Given the description of an element on the screen output the (x, y) to click on. 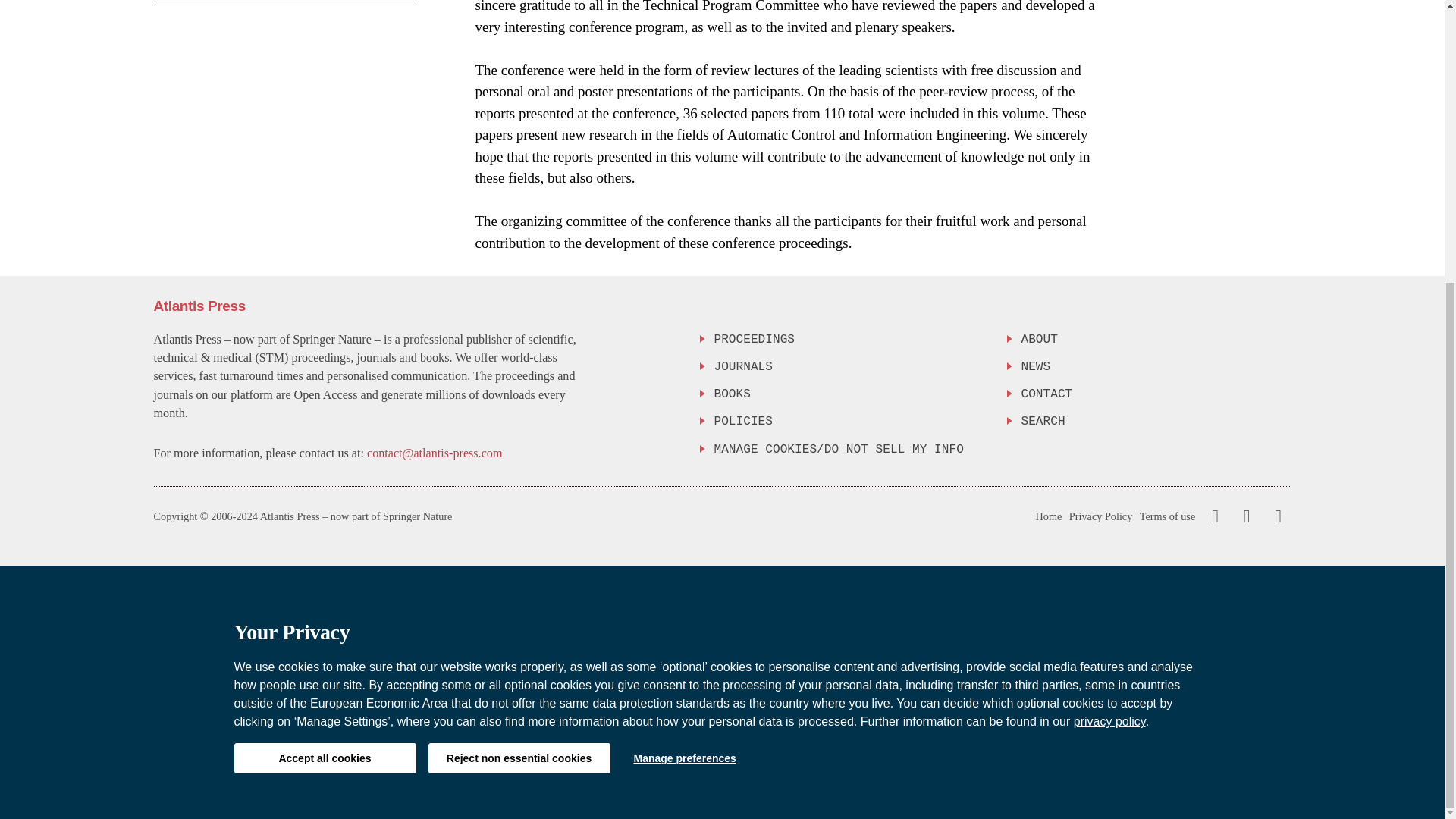
Reject non essential cookies (519, 335)
PROCEEDINGS (849, 339)
Accept all cookies (323, 335)
Atlantis Press (198, 305)
ABOUT (1155, 339)
CONTACT (1155, 394)
POLICIES (849, 421)
Facebook (1215, 516)
Manage preferences (683, 335)
privacy policy (1109, 297)
BOOKS (849, 394)
JOURNALS (849, 366)
Twitter (1243, 516)
NEWS (1155, 366)
